Given the description of an element on the screen output the (x, y) to click on. 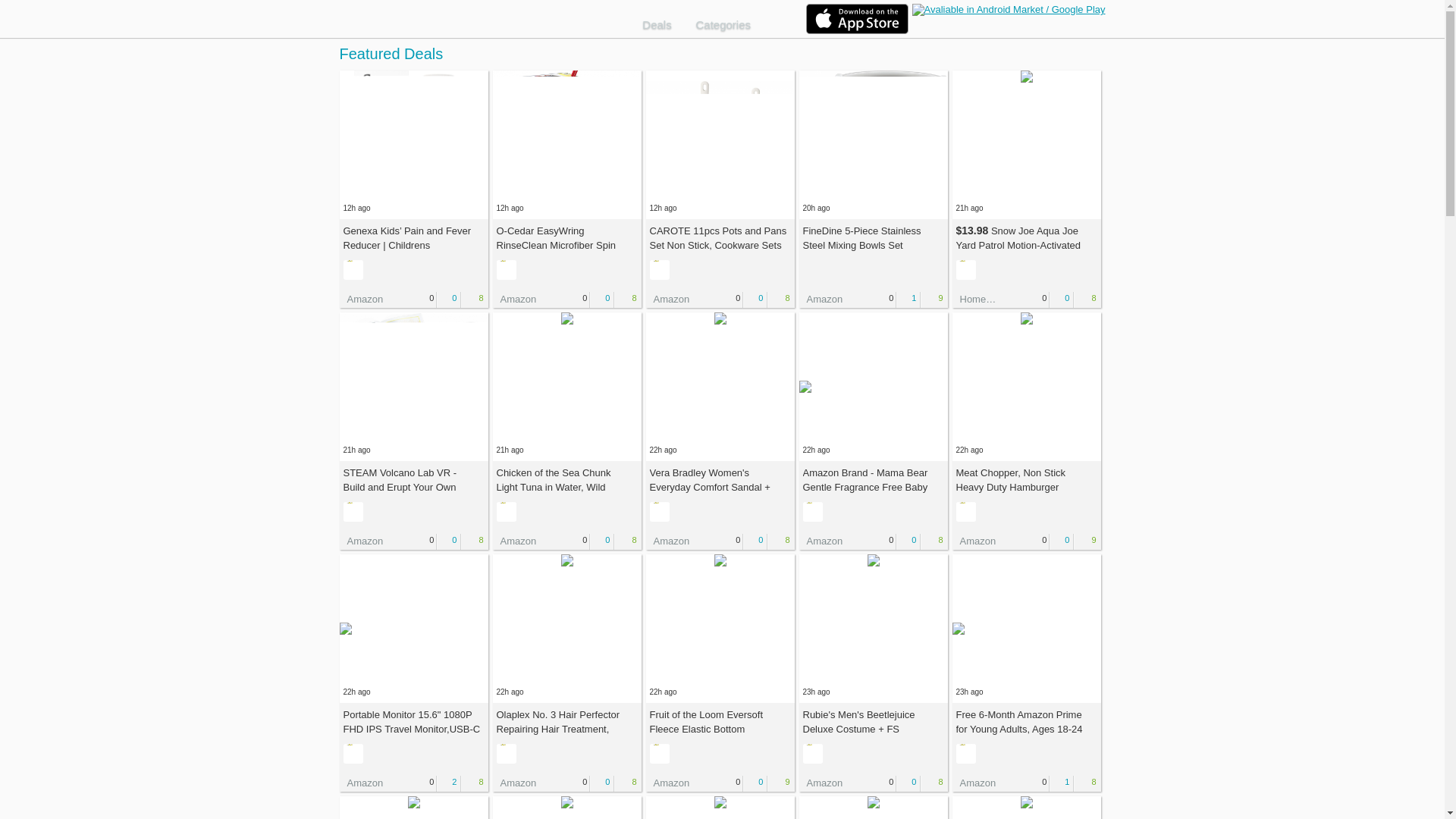
Amazon (361, 782)
Amazon (821, 298)
Amazon (361, 541)
Amazon (668, 541)
Deals (662, 23)
Amazon (515, 298)
Amazon (515, 541)
Amazon (361, 298)
Amazon (821, 541)
Amazon (668, 782)
